Given the description of an element on the screen output the (x, y) to click on. 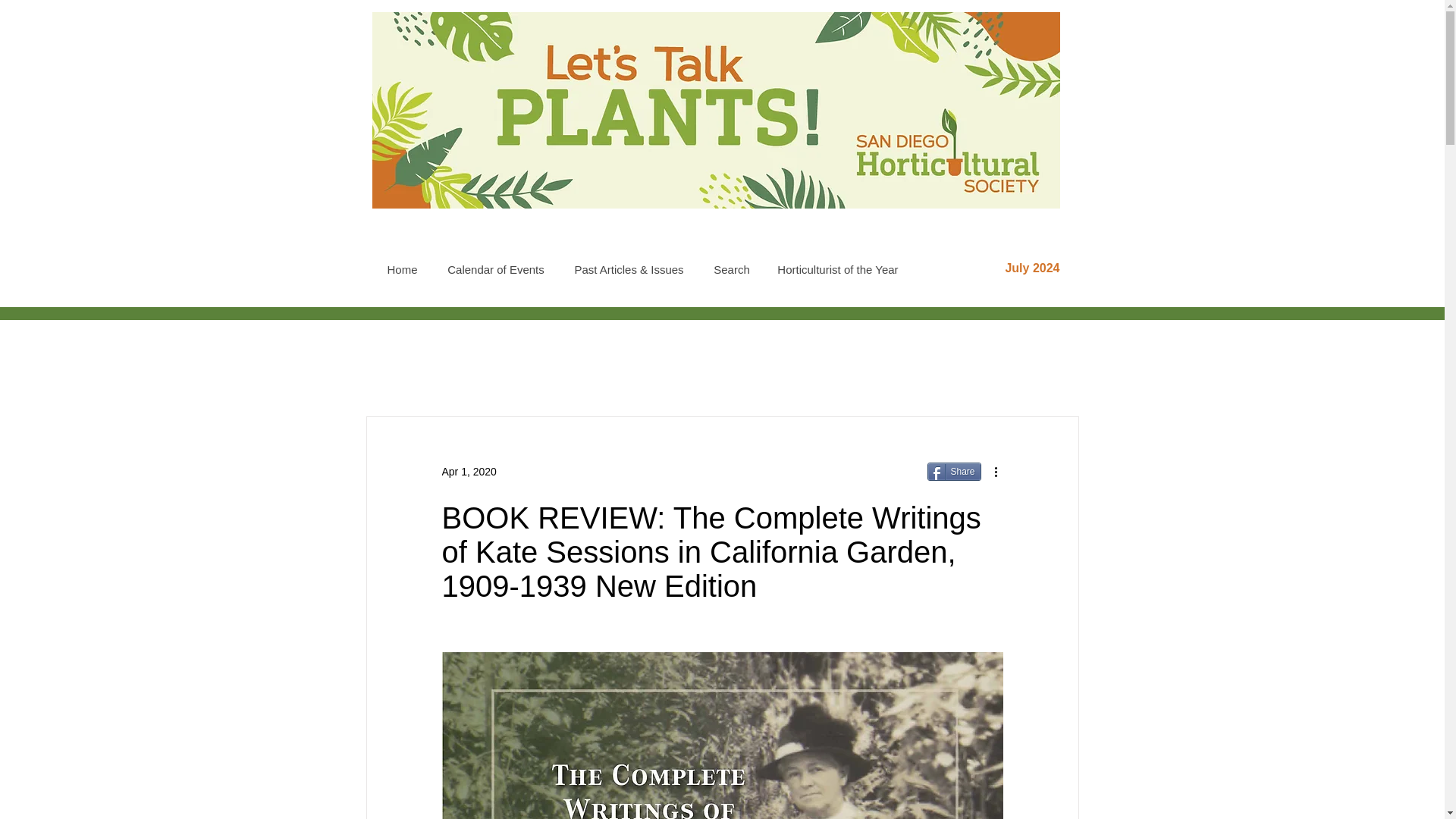
Calendar of Events (494, 269)
Home (401, 269)
Share (952, 471)
Search (731, 269)
Share (952, 471)
Apr 1, 2020 (468, 471)
Horticulturist of the Year (837, 269)
